Given the description of an element on the screen output the (x, y) to click on. 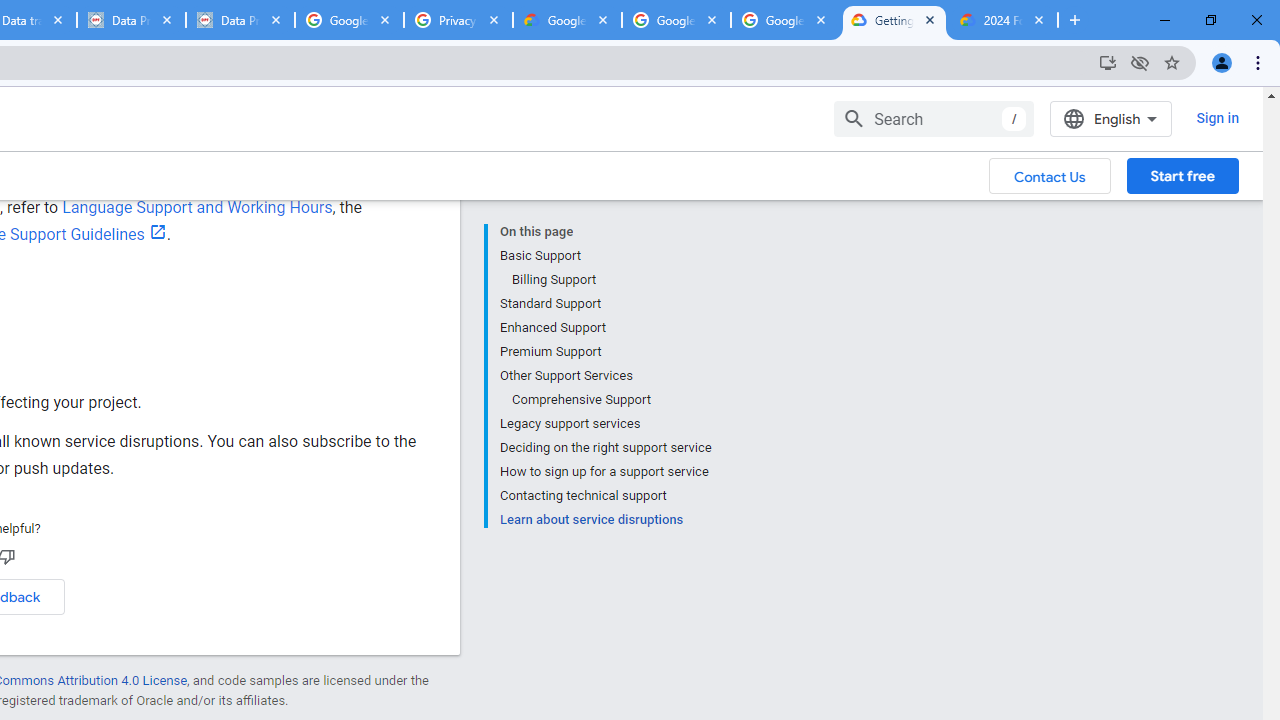
Billing Support (610, 279)
Other Support Services (605, 376)
Learn about service disruptions (605, 517)
Contacting technical support (605, 495)
Data Privacy Framework (240, 20)
Google Workspace - Specific Terms (784, 20)
Standard Support (605, 304)
Start free (1182, 175)
Language Support and Working Hours (196, 207)
